Given the description of an element on the screen output the (x, y) to click on. 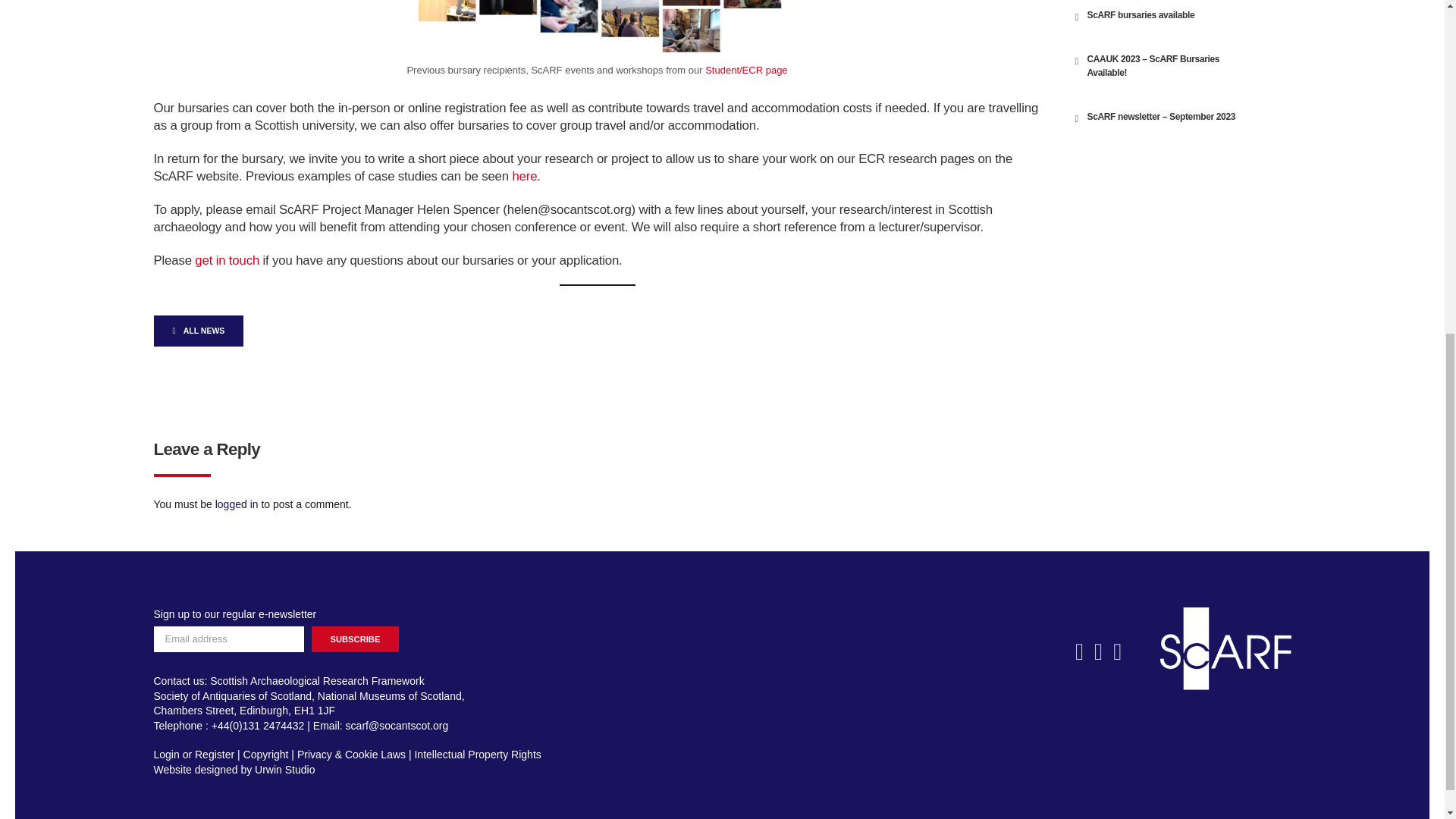
Subscribe (354, 639)
